Given the description of an element on the screen output the (x, y) to click on. 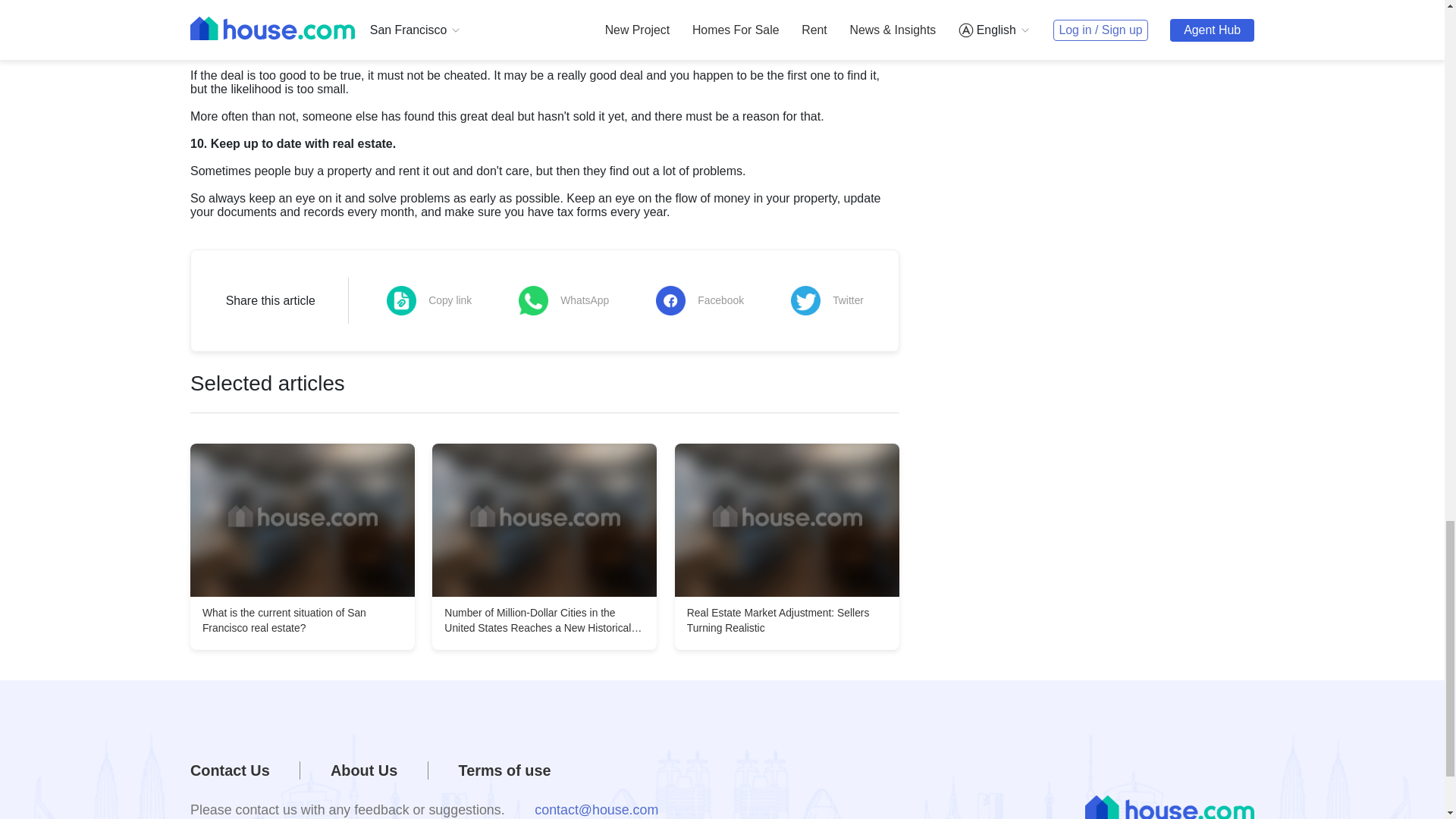
Real Estate Market Adjustment: Sellers Turning Realistic (787, 520)
What is the current situation of San Francisco real estate? (302, 520)
